Given the description of an element on the screen output the (x, y) to click on. 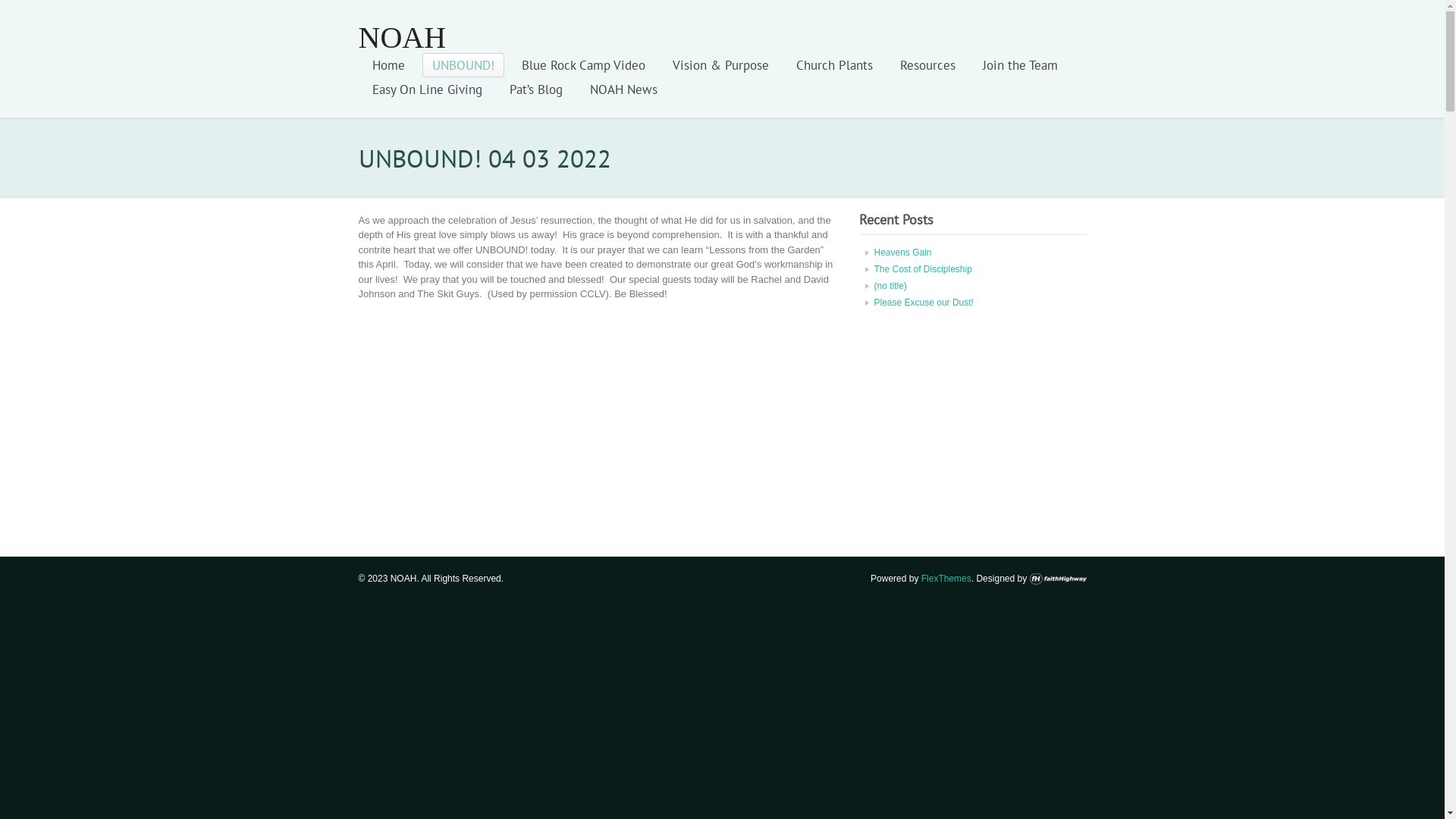
Church Plants Element type: text (833, 65)
NOAH News Element type: text (622, 89)
Join the Team Element type: text (1019, 65)
UNBOUND! 04 03 2022 Element type: hover (547, 419)
Vision & Purpose Element type: text (720, 65)
Blue Rock Camp Video Element type: text (582, 65)
UNBOUND! Element type: text (462, 65)
FlexThemes Element type: text (946, 578)
Home Element type: text (388, 65)
Resources Element type: text (927, 65)
NOAH Element type: text (401, 37)
Please Excuse our Dust! Element type: text (922, 302)
The Cost of Discipleship Element type: text (922, 268)
Heavens Gain Element type: text (902, 252)
(no title) Element type: text (889, 285)
Easy On Line Giving Element type: text (427, 89)
